Given the description of an element on the screen output the (x, y) to click on. 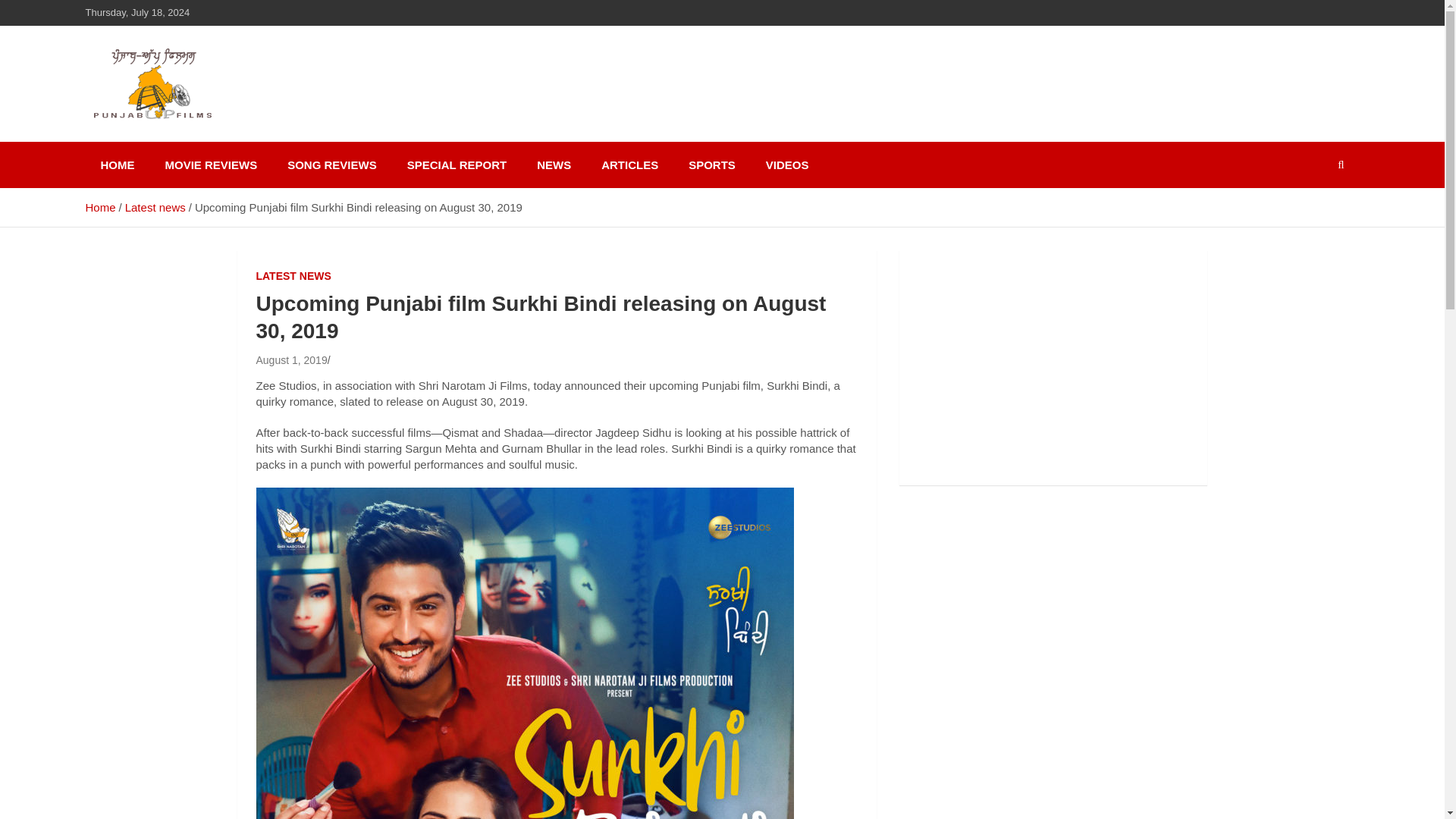
NEWS (553, 164)
MOVIE REVIEWS (211, 164)
ARTICLES (629, 164)
VIDEOS (787, 164)
HOME (116, 164)
SONG REVIEWS (331, 164)
Latest news (155, 206)
August 1, 2019 (291, 359)
SPECIAL REPORT (456, 164)
Advertisement (1053, 367)
Home (99, 206)
Punjabup films (193, 138)
LATEST NEWS (293, 276)
SPORTS (711, 164)
